Given the description of an element on the screen output the (x, y) to click on. 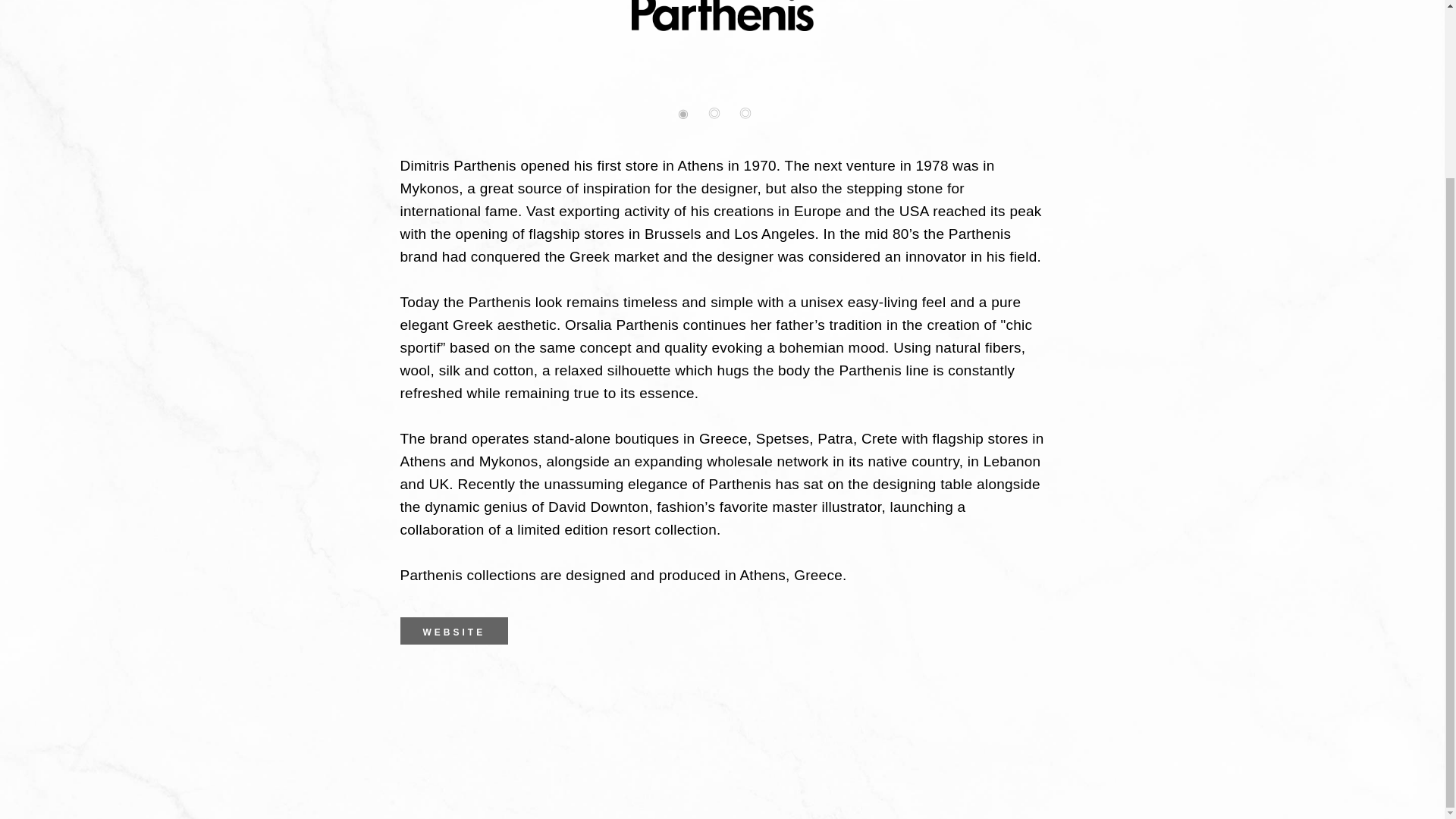
WEBSITE (454, 630)
